Given the description of an element on the screen output the (x, y) to click on. 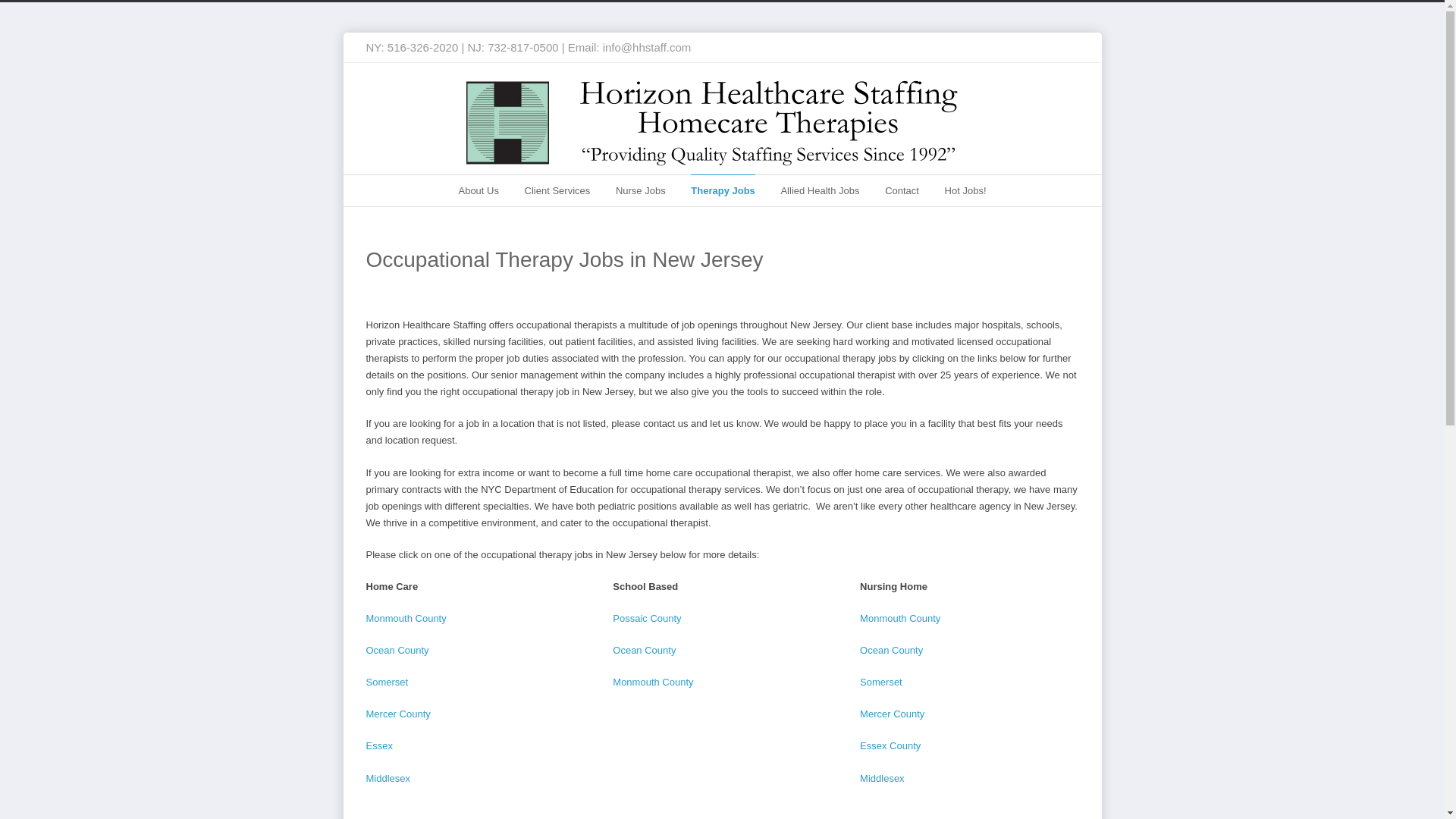
Allied Health Jobs (819, 190)
Client Services (557, 190)
Nurse Jobs (640, 190)
Therapy Jobs (722, 190)
About Us (477, 190)
